Given the description of an element on the screen output the (x, y) to click on. 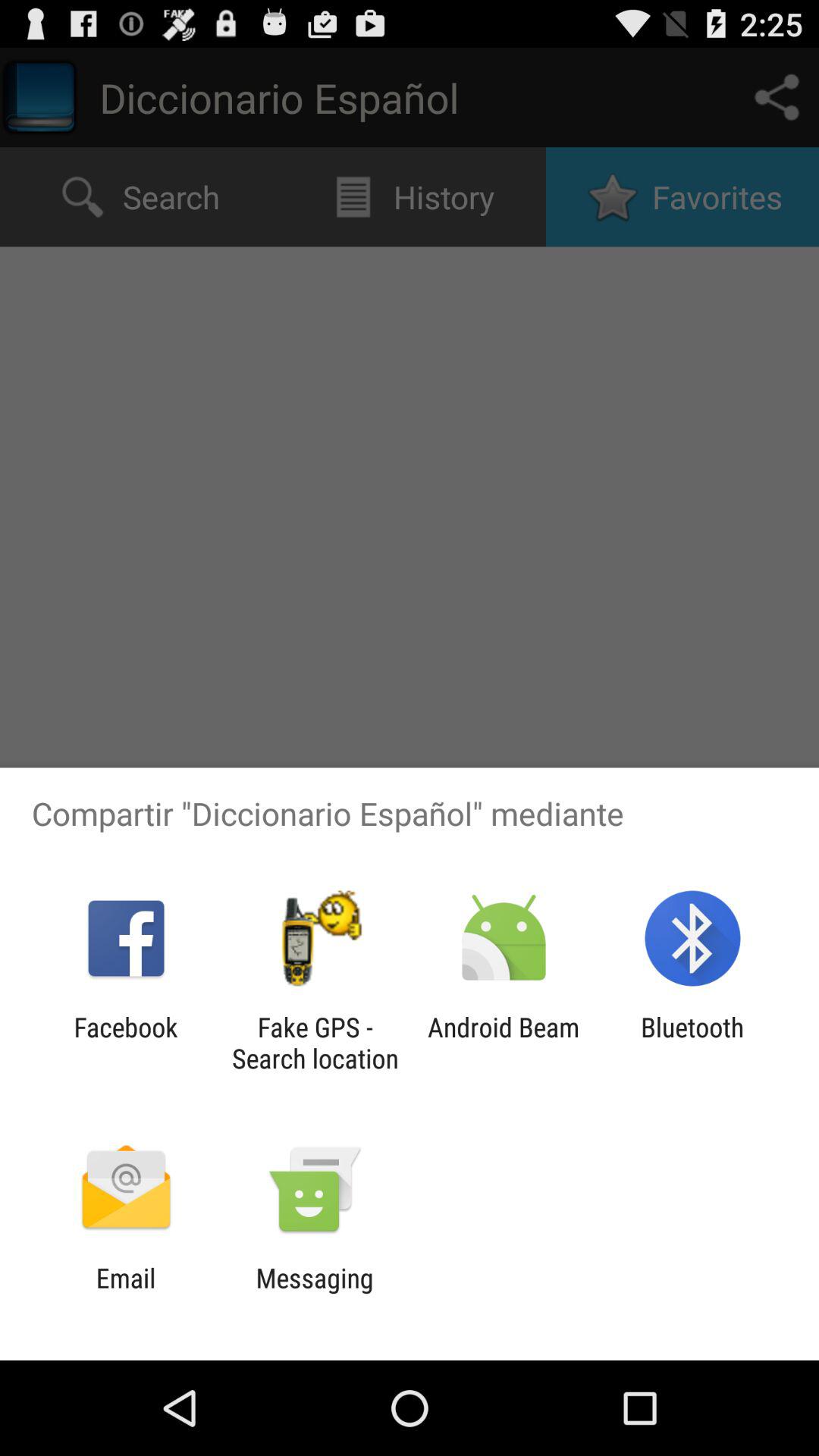
select the icon to the left of the fake gps search icon (125, 1042)
